Given the description of an element on the screen output the (x, y) to click on. 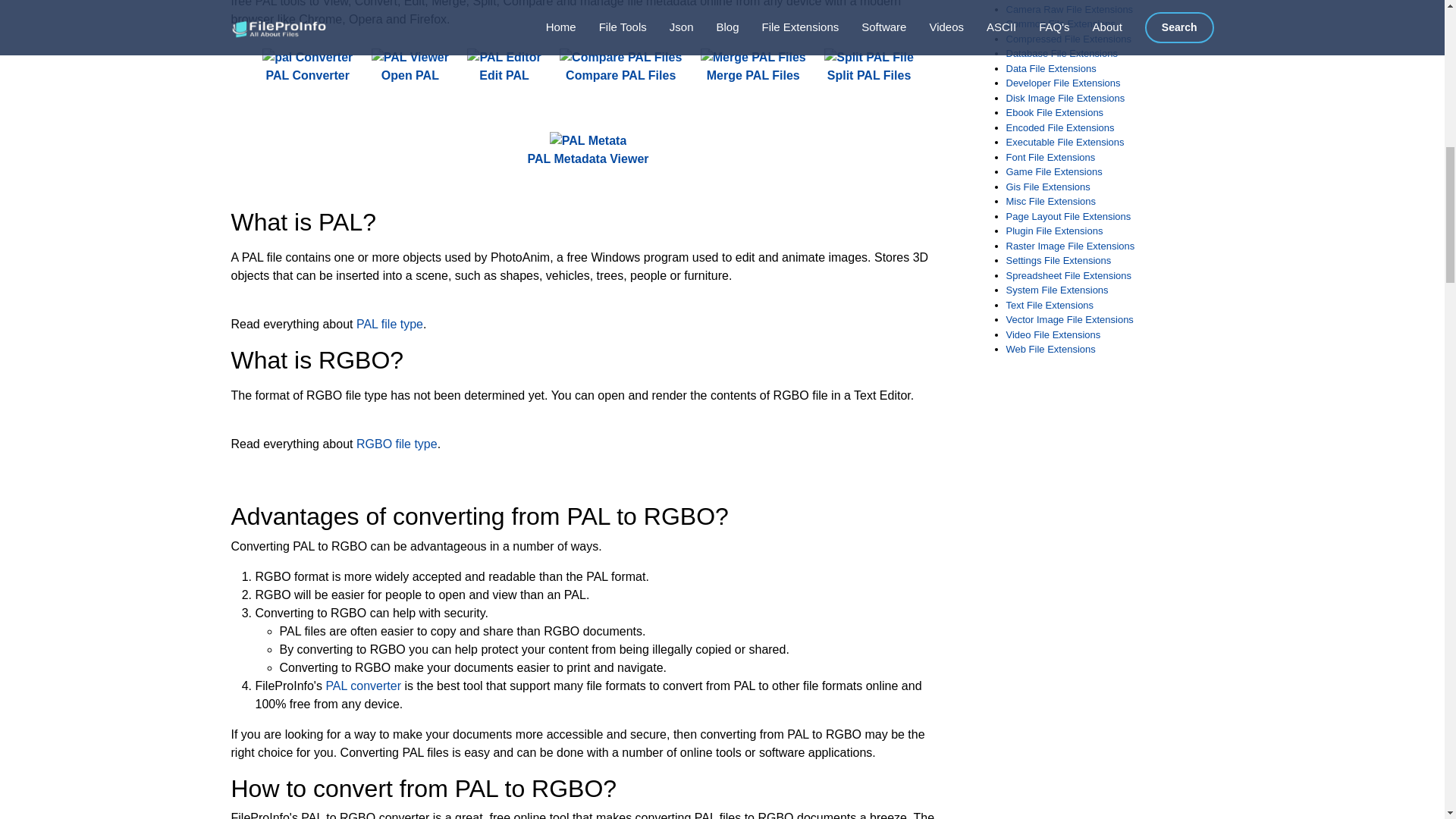
Split PAL Files (869, 66)
RGBO file type (397, 443)
PAL Metadata Viewer (587, 150)
pal Converter online free (307, 57)
PAL Converter. (307, 66)
PAL Viewer, open PAL file online and free. (409, 66)
Edit PAL (503, 66)
PAL Converter (307, 66)
Merge PAL Files (753, 66)
Open PAL (409, 66)
Compare PAL Files (620, 66)
PAL converter (362, 685)
PAL file type (389, 323)
